Given the description of an element on the screen output the (x, y) to click on. 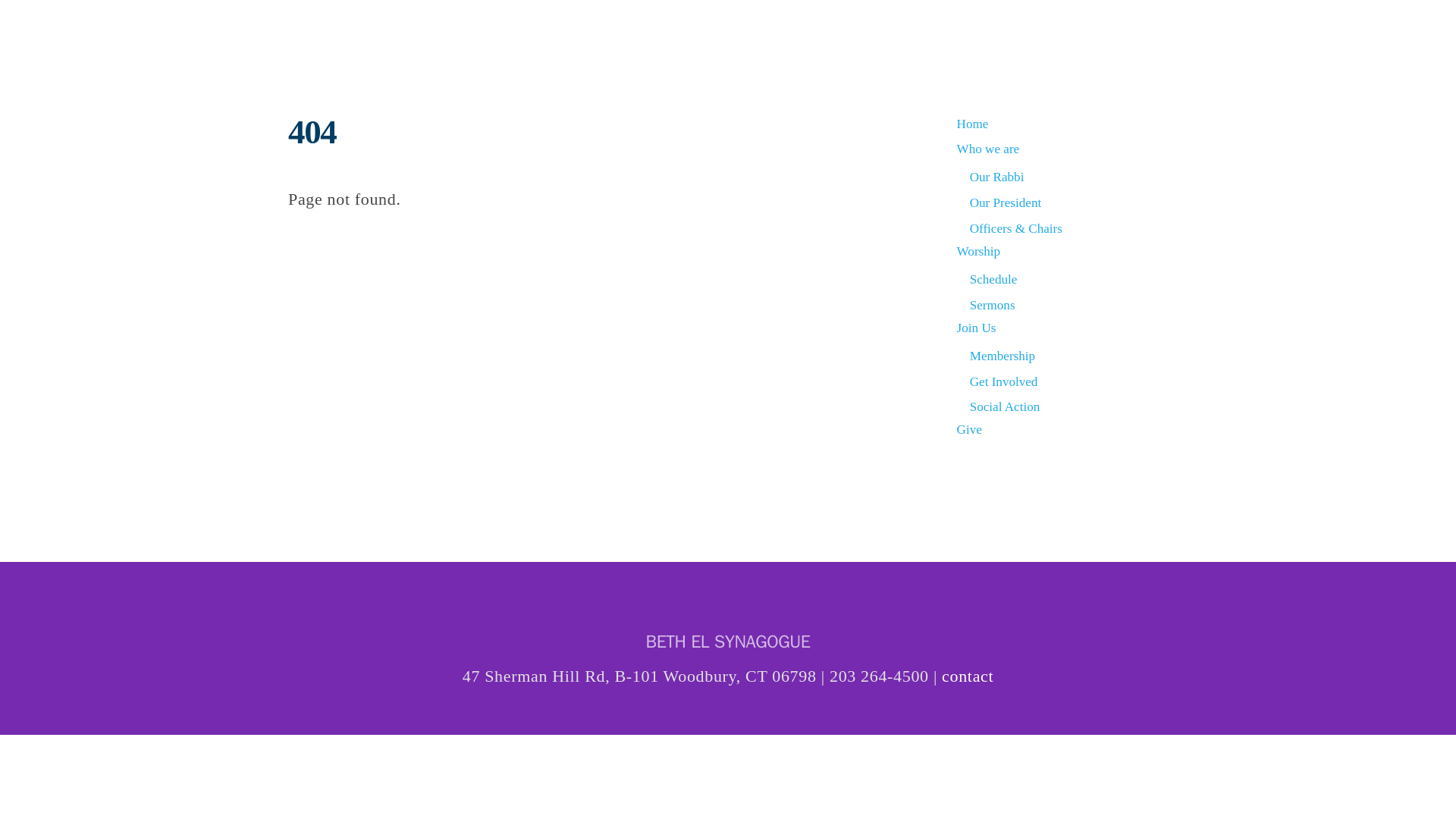
Sermons (991, 305)
Schedule (993, 278)
Worship (978, 251)
contact (967, 675)
HOME (787, 30)
Give (968, 429)
Beth El Synogague (401, 51)
JOIN US (1059, 30)
Membership (1002, 355)
Social Action (1005, 406)
